Given the description of an element on the screen output the (x, y) to click on. 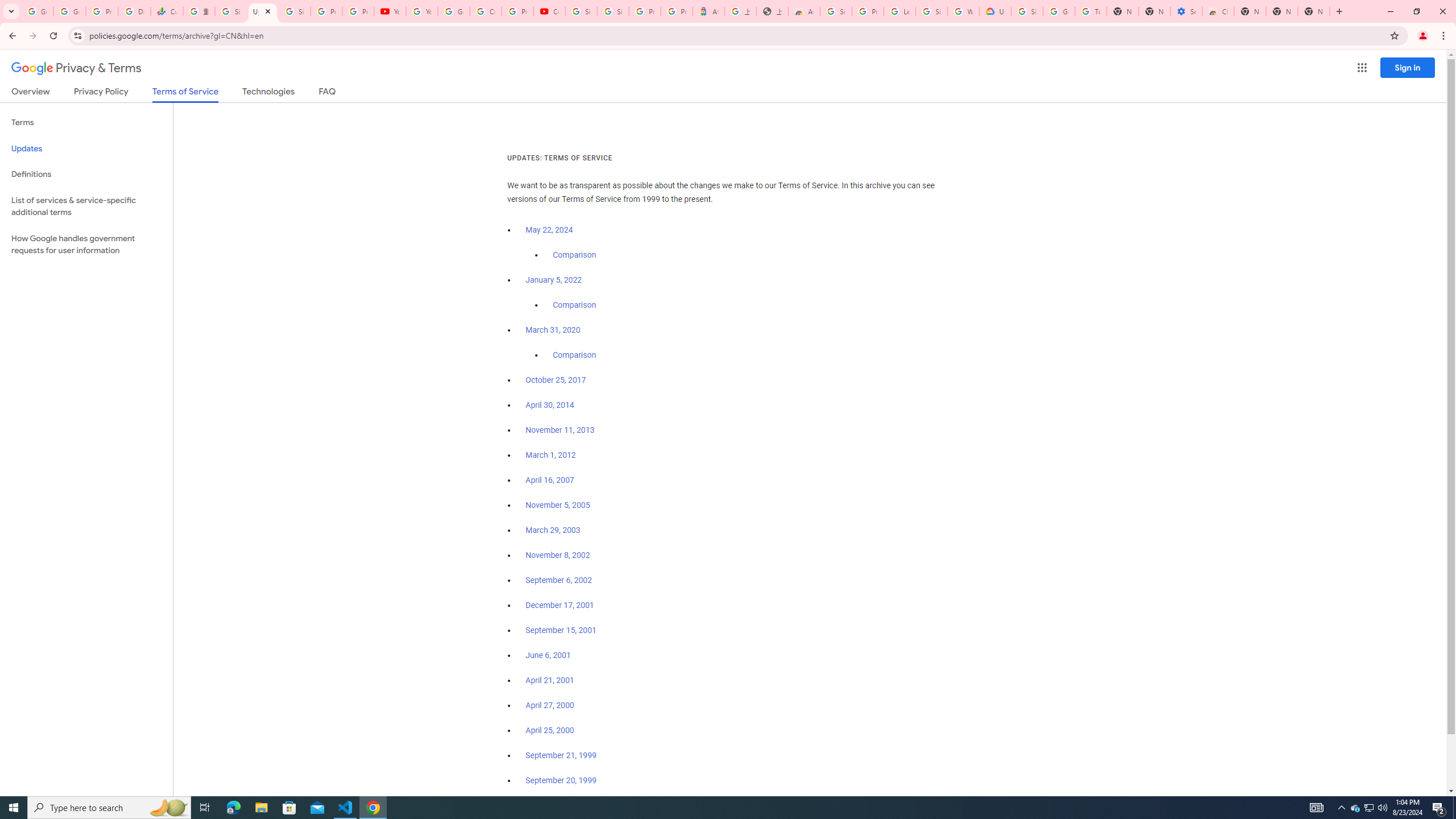
March 31, 2020 (552, 330)
Awesome Screen Recorder & Screenshot - Chrome Web Store (804, 11)
YouTube (421, 11)
September 21, 1999 (560, 755)
Turn cookies on or off - Computer - Google Account Help (1091, 11)
April 25, 2000 (550, 729)
Who are Google's partners? - Privacy and conditions - Google (963, 11)
Sign in - Google Accounts (836, 11)
